Given the description of an element on the screen output the (x, y) to click on. 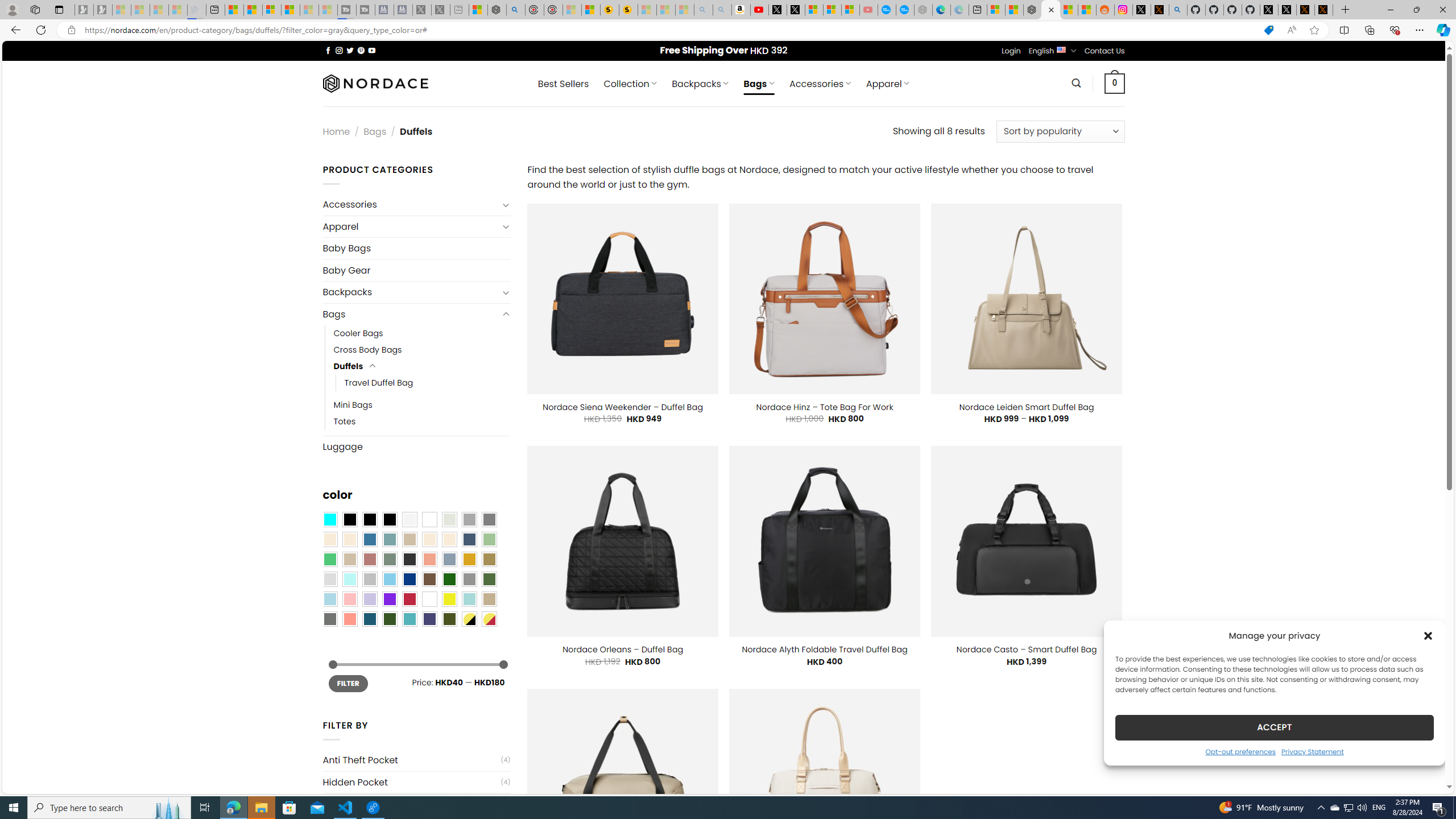
Nordace - Nordace has arrived Hong Kong - Sleeping (923, 9)
Red (408, 599)
Khaki (488, 599)
Shanghai, China Weather trends | Microsoft Weather (1086, 9)
Baby Gear (416, 269)
Login (1010, 50)
Profile / X (1268, 9)
Cooler Bags (357, 333)
Anti Theft Pocket(4) (416, 760)
Emerald Green (329, 559)
